Given the description of an element on the screen output the (x, y) to click on. 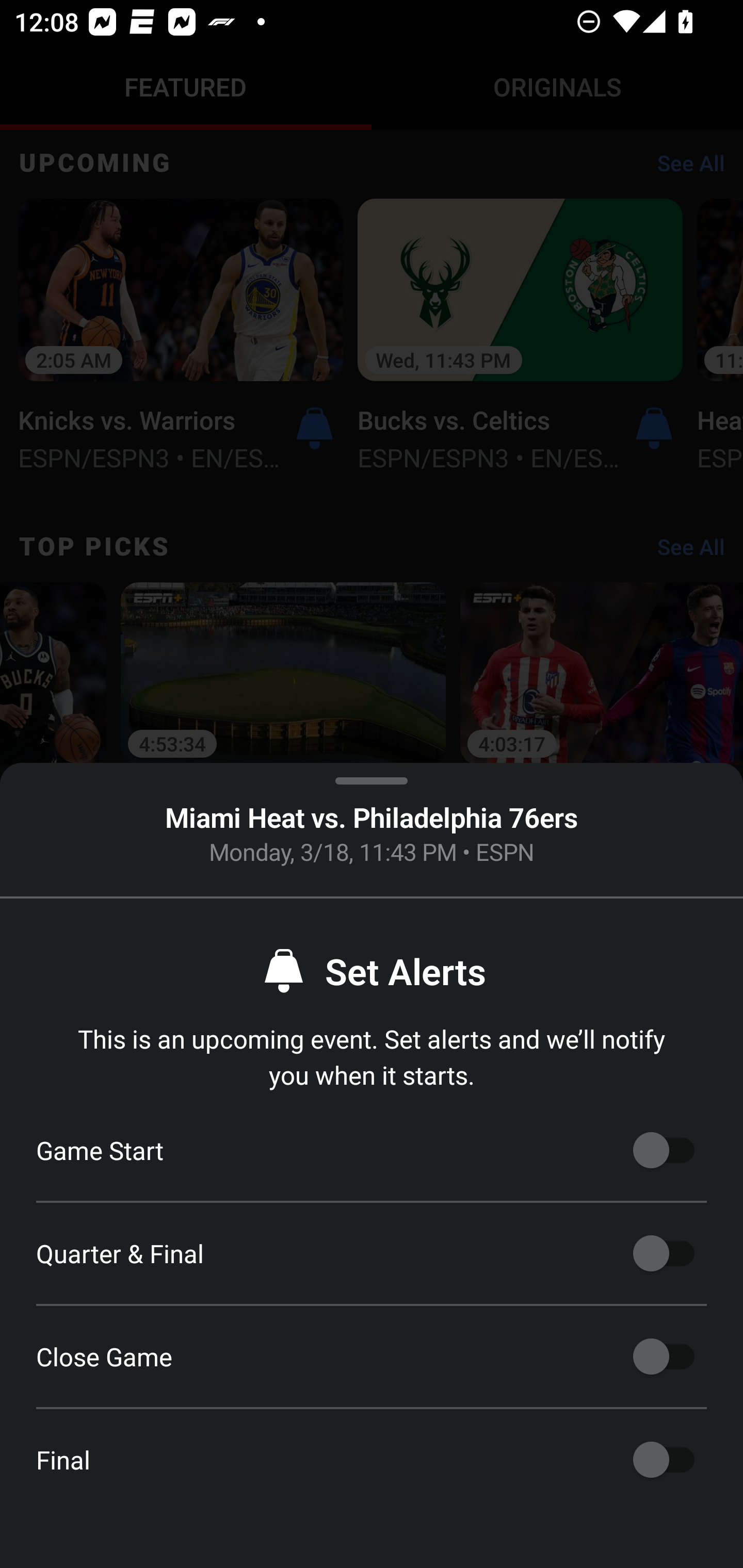
Game Start (663, 1150)
Quarter & Final (663, 1253)
Close Game (663, 1356)
Final (663, 1459)
